Given the description of an element on the screen output the (x, y) to click on. 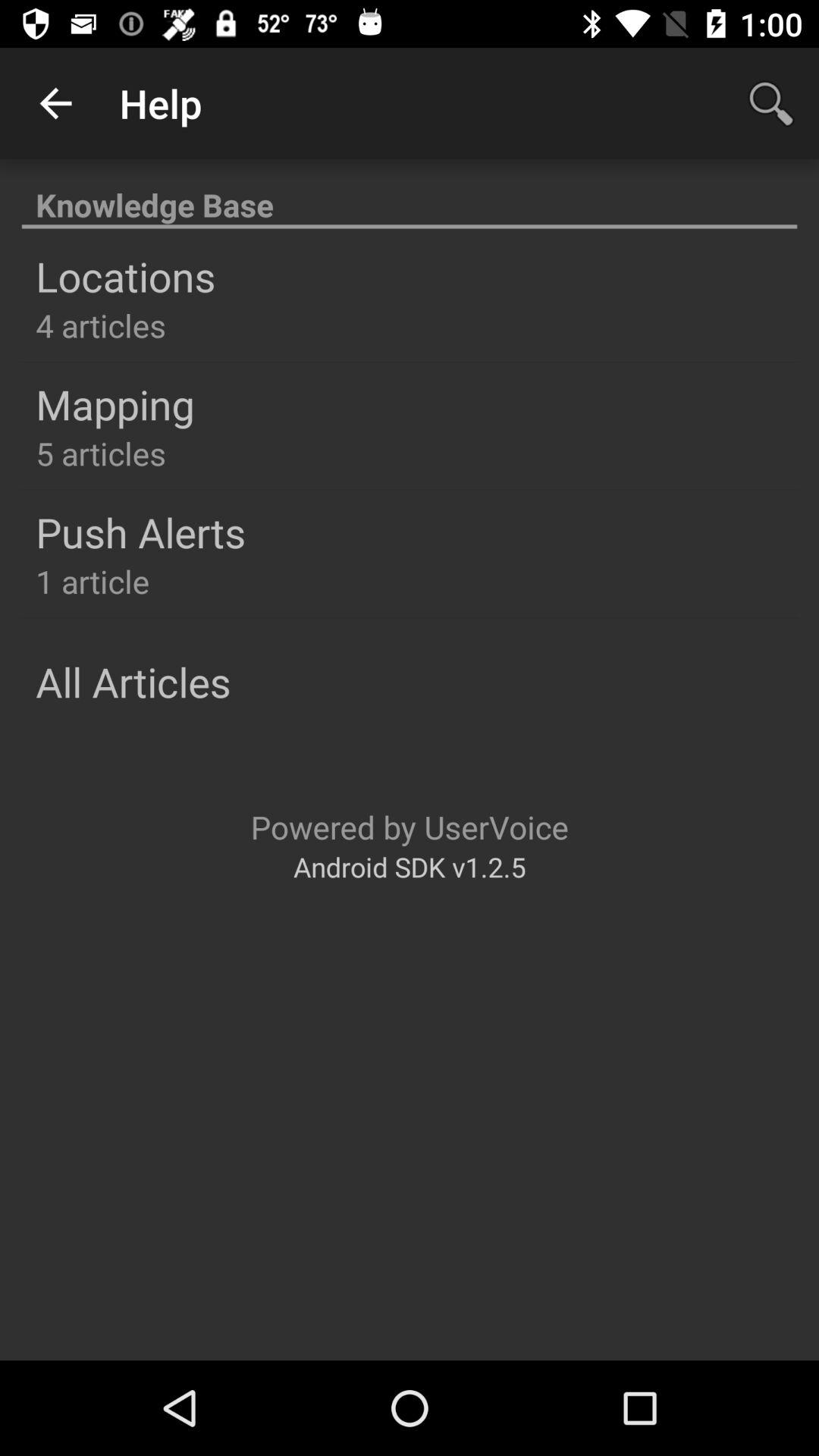
turn off the icon to the left of help (55, 103)
